Given the description of an element on the screen output the (x, y) to click on. 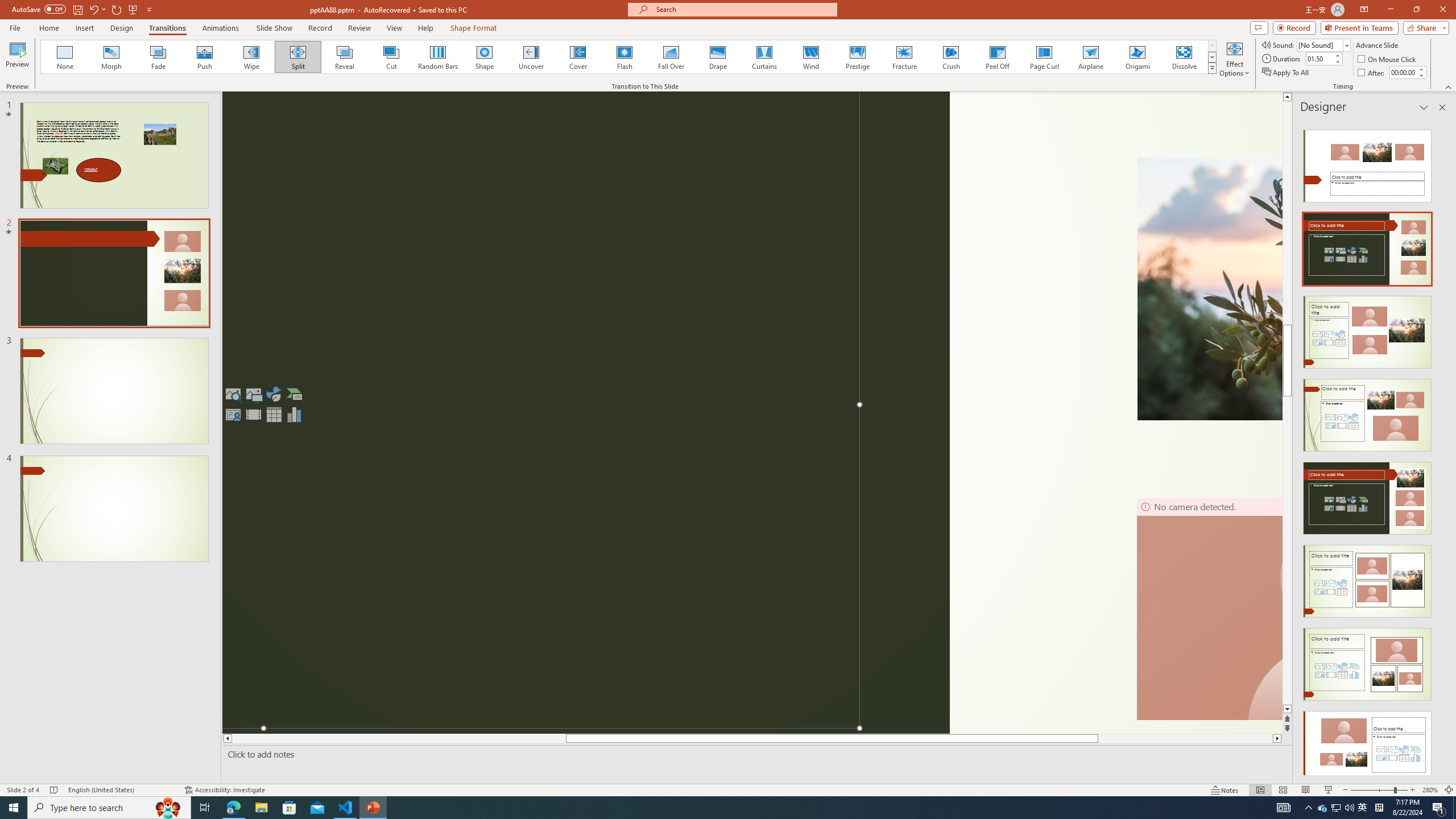
Page down (1287, 570)
Zoom 280% (1430, 790)
Accessibility Checker Accessibility: Investigate (224, 790)
Class: MsoCommandBar (728, 789)
Insert Cameo (232, 414)
Shape Format (473, 28)
Apply To All (1286, 72)
Page up (1287, 232)
Preview (17, 58)
